Given the description of an element on the screen output the (x, y) to click on. 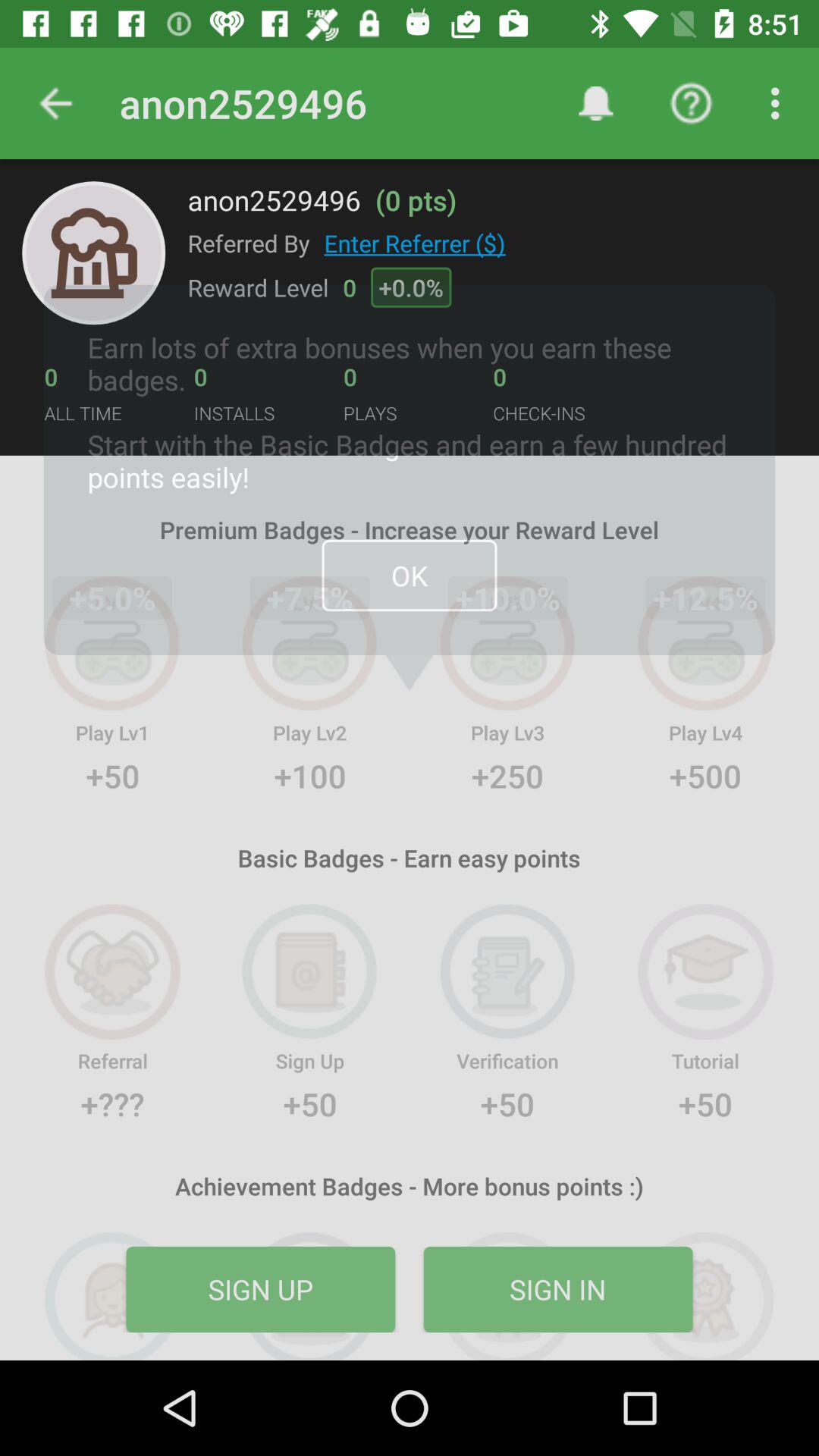
check image (93, 252)
